Given the description of an element on the screen output the (x, y) to click on. 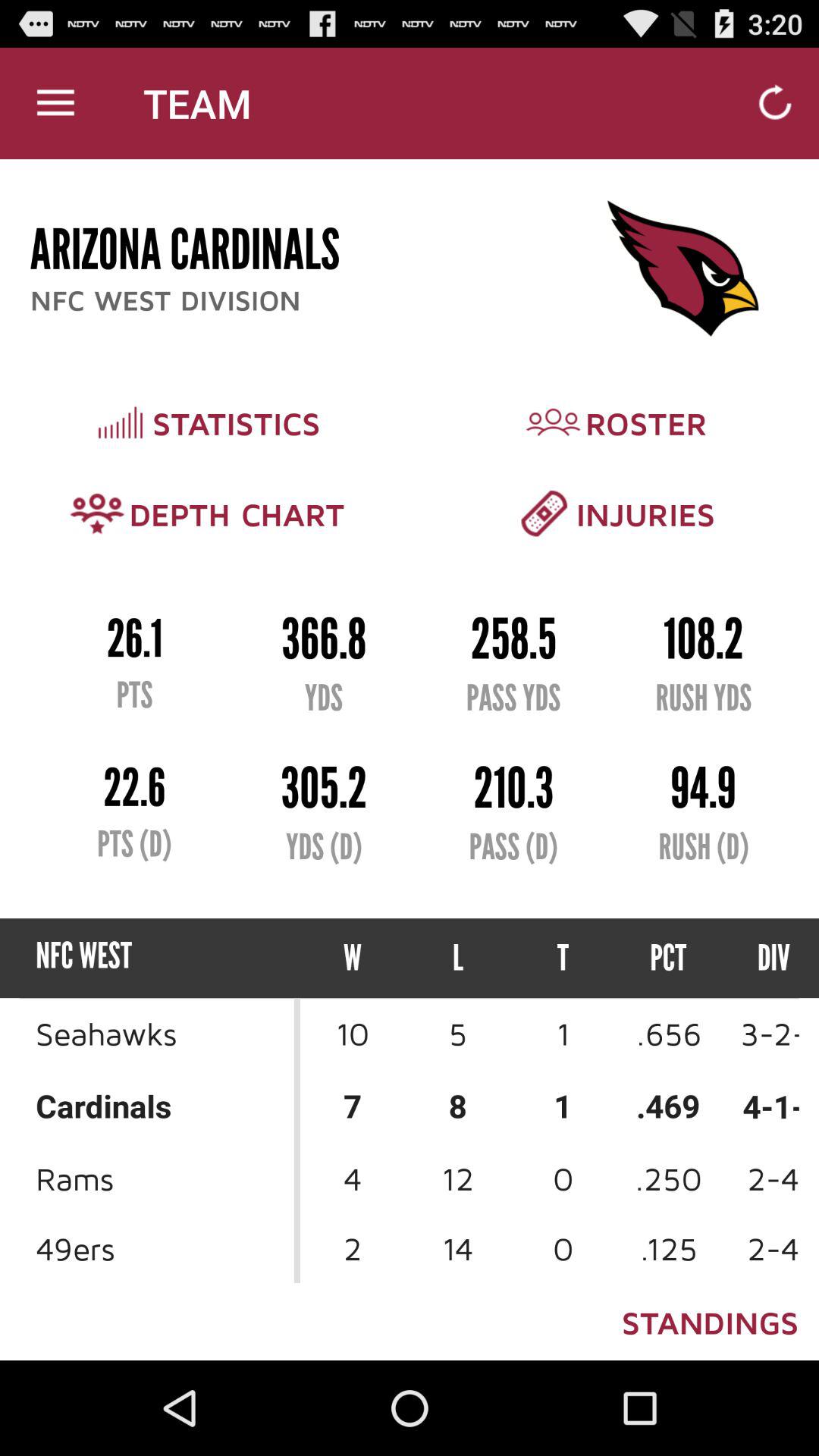
select the item to the left of team app (55, 103)
